Given the description of an element on the screen output the (x, y) to click on. 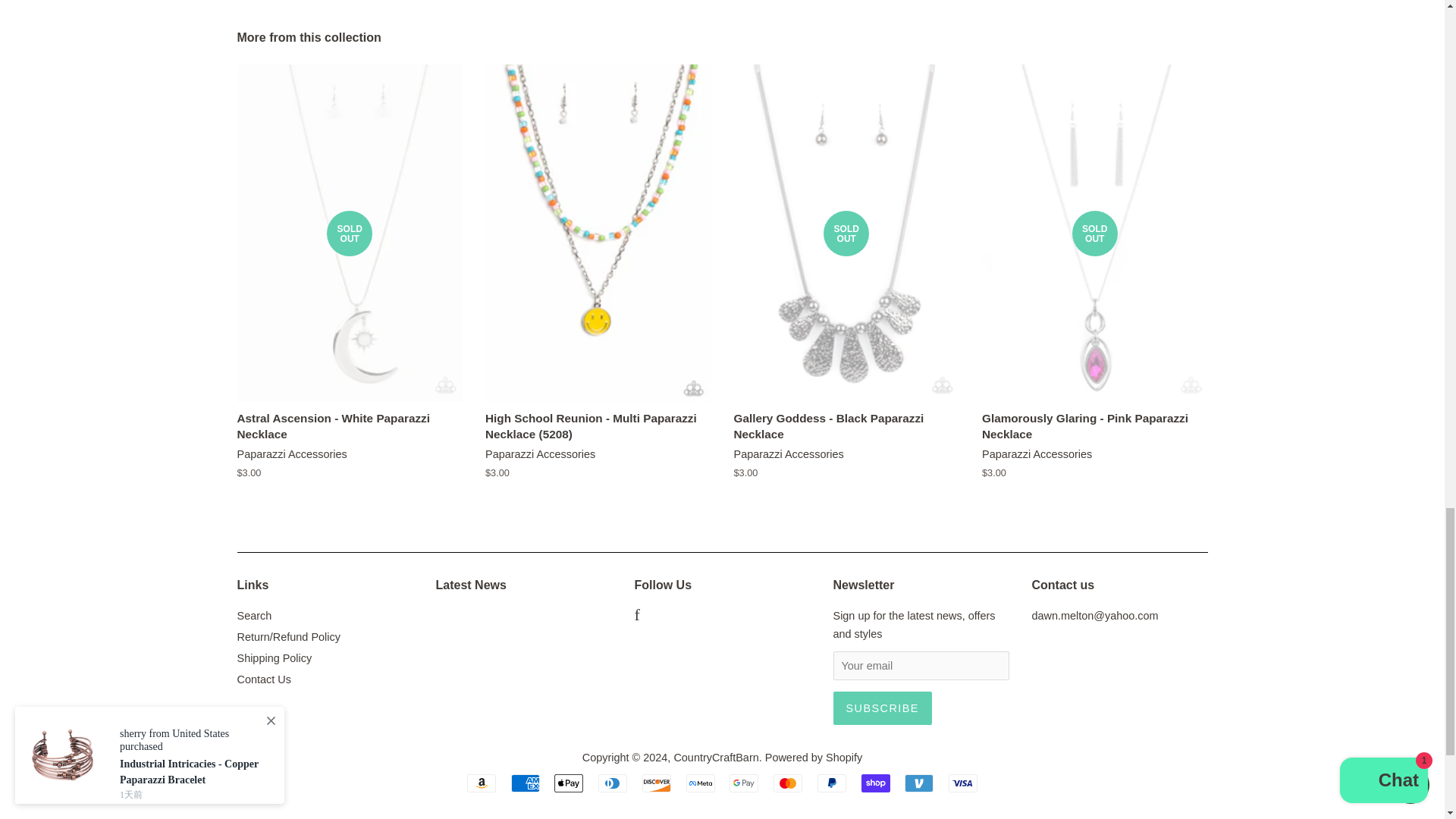
Visa (962, 782)
Venmo (918, 782)
PayPal (830, 782)
Diners Club (612, 782)
Shop Pay (875, 782)
Mastercard (787, 782)
American Express (525, 782)
Amazon (481, 782)
Meta Pay (699, 782)
Subscribe (881, 707)
CountryCraftBarn on Facebook (636, 616)
Discover (656, 782)
Google Pay (743, 782)
Apple Pay (568, 782)
